Given the description of an element on the screen output the (x, y) to click on. 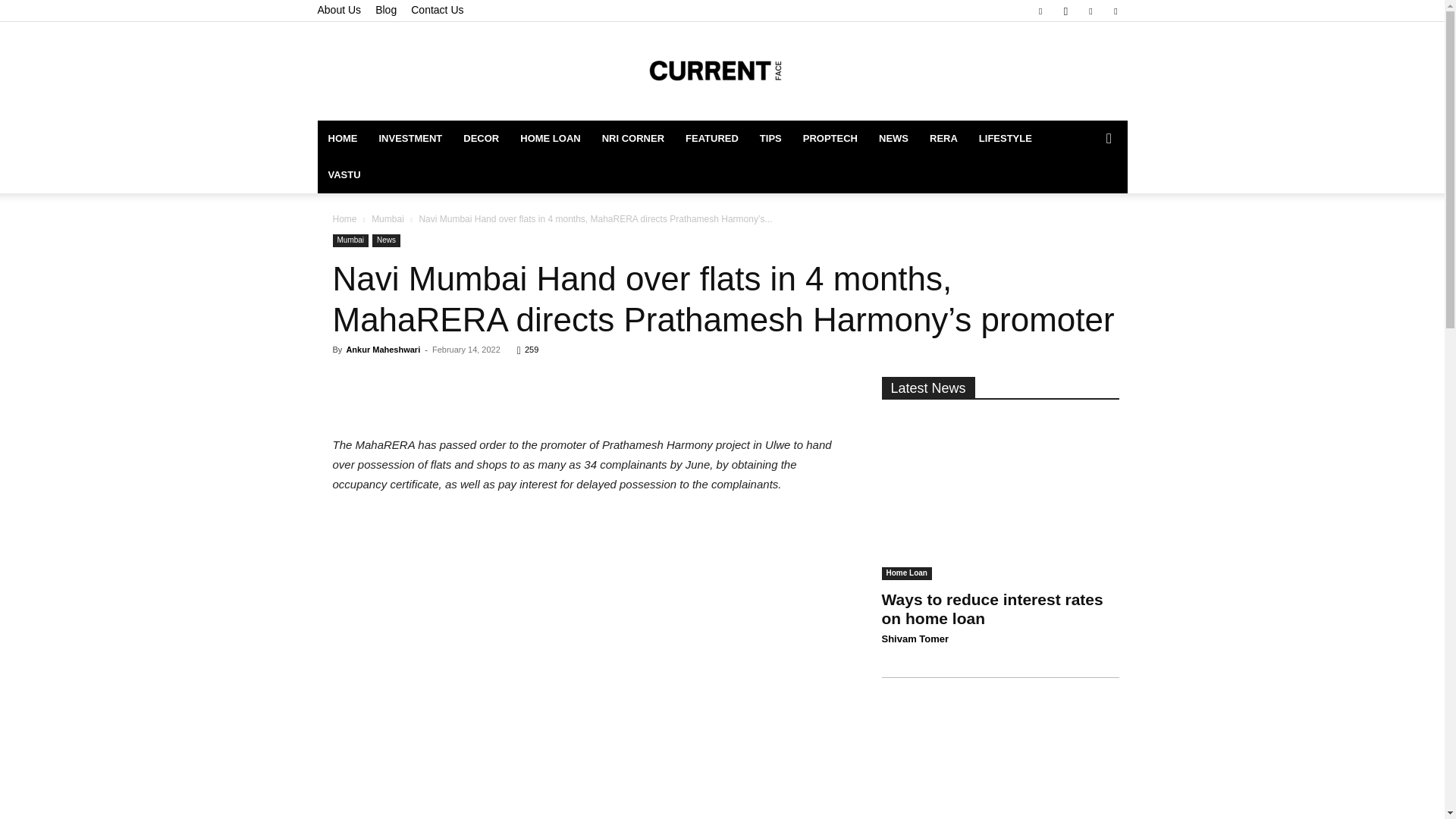
View all posts in Mumbai (387, 218)
HOME (342, 138)
Contact Us (436, 9)
Twitter (1114, 10)
Facebook (1040, 10)
INVESTMENT (410, 138)
FEATURED (712, 138)
PROPTECH (829, 138)
DECOR (480, 138)
Linkedin (1090, 10)
